Given the description of an element on the screen output the (x, y) to click on. 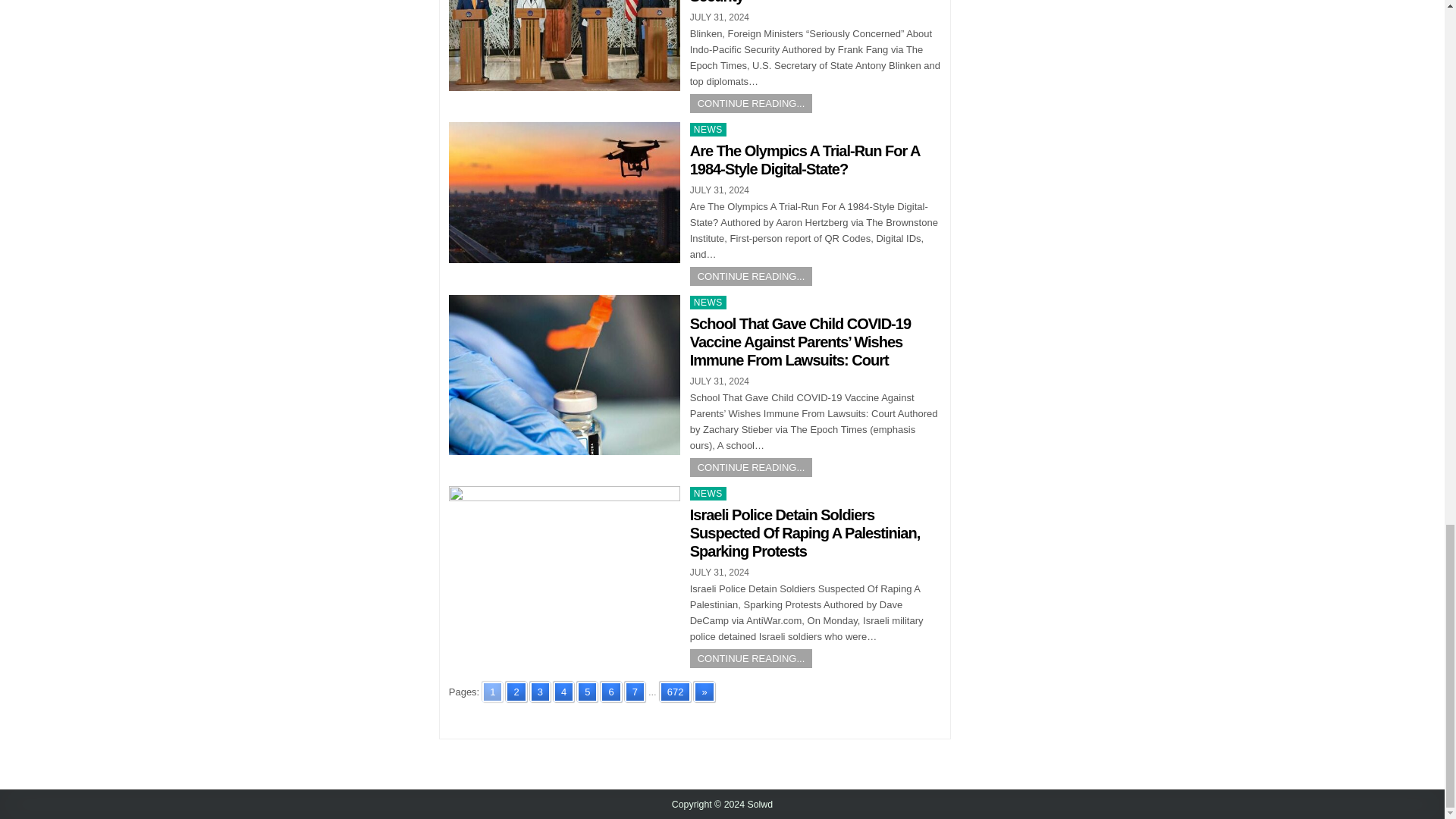
2 (515, 691)
NEWS (708, 129)
6 (610, 691)
5 (586, 691)
4 (563, 691)
NEWS (708, 302)
Are The Olympics A Trial-Run For A 1984-Style Digital-State? (805, 159)
3 (539, 691)
CONTINUE READING... (751, 275)
CONTINUE READING... (751, 103)
